Given the description of an element on the screen output the (x, y) to click on. 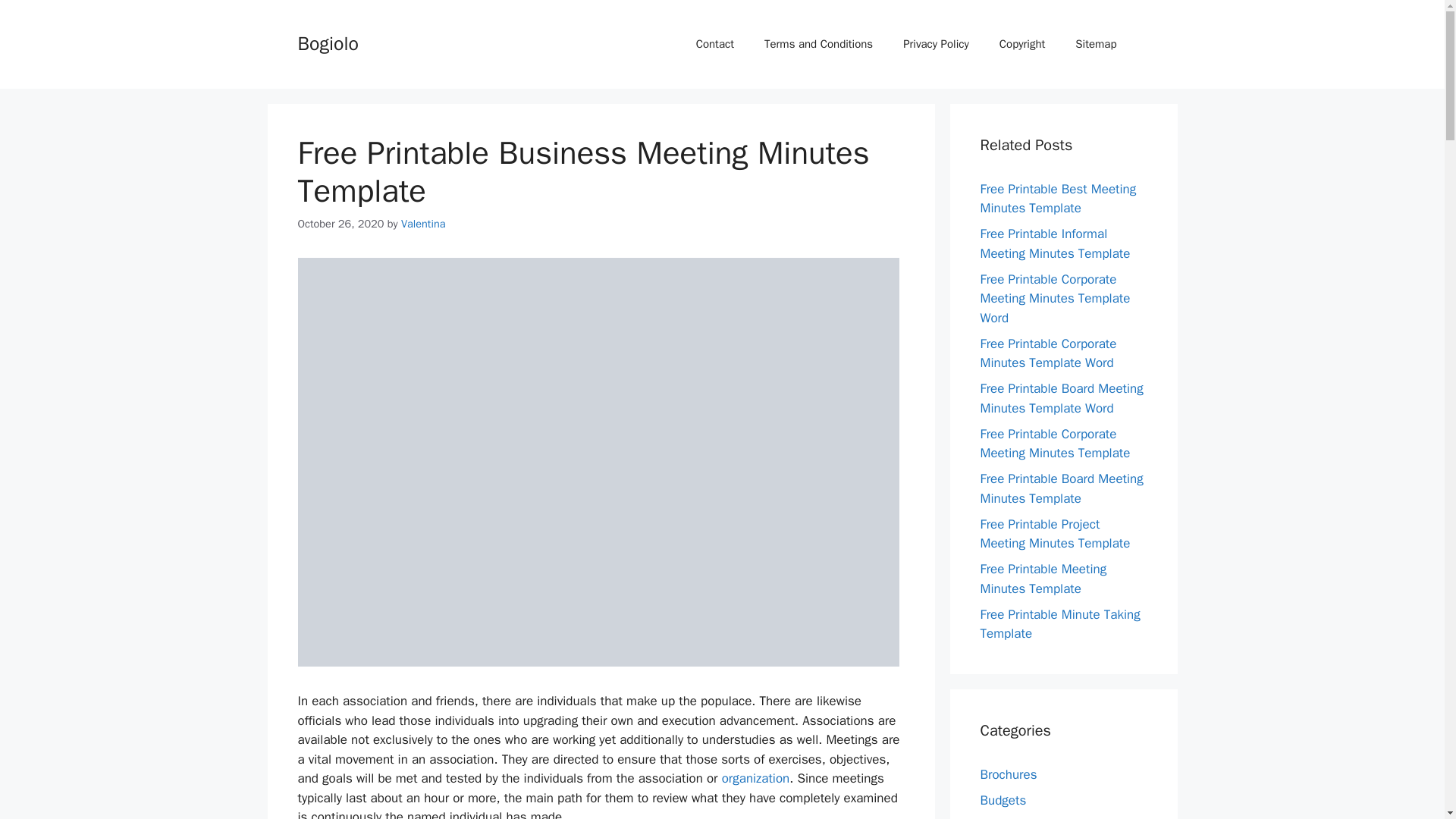
Free Printable Board Meeting Minutes Template (1060, 488)
Free Printable Corporate Meeting Minutes Template (1054, 443)
Contact (715, 43)
Sitemap (1095, 43)
Free Printable Best Meeting Minutes Template (1057, 198)
View all posts by Valentina (423, 223)
Copyright (1022, 43)
Free Printable Corporate Minutes Template Word (1047, 352)
Business (1005, 818)
Free Printable Corporate Meeting Minutes Template Word (1054, 298)
